Given the description of an element on the screen output the (x, y) to click on. 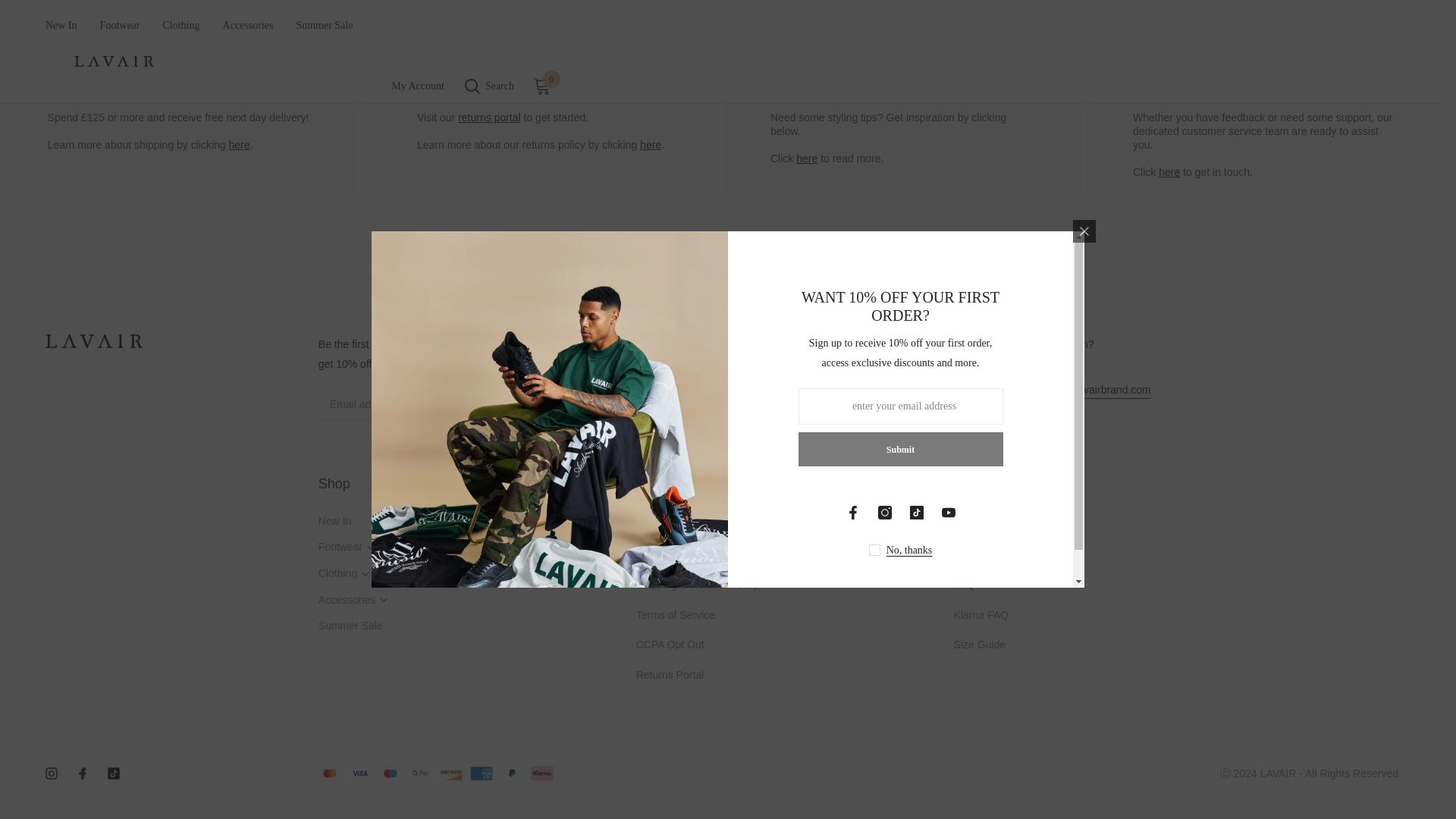
Footwear (377, 545)
